Given the description of an element on the screen output the (x, y) to click on. 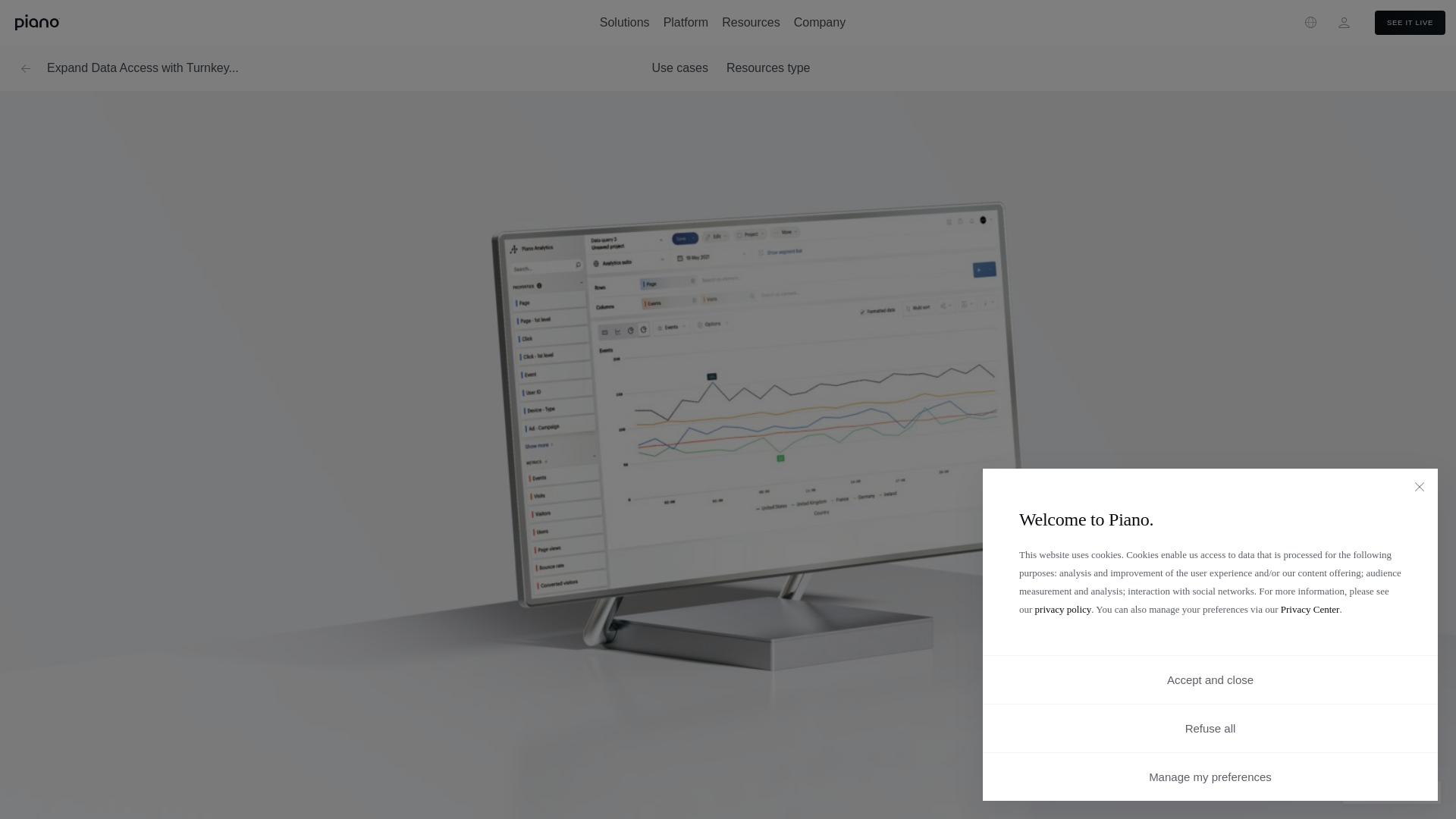
Accept and close (1210, 679)
Use cases (679, 67)
Manage my preferences (1210, 776)
Resources type (768, 67)
Piano Privacy Policy (1063, 609)
Refuse all (1210, 727)
